Given the description of an element on the screen output the (x, y) to click on. 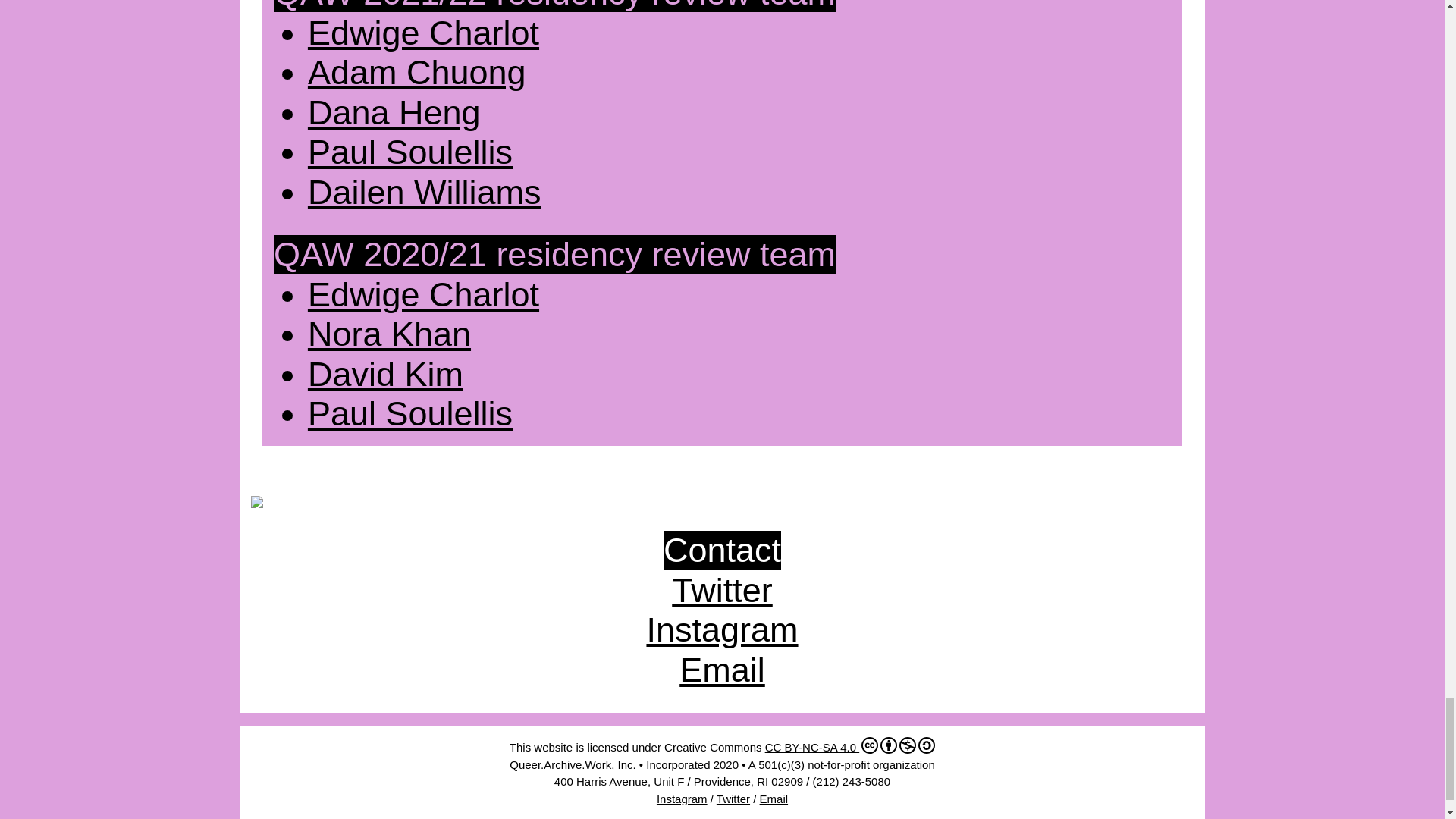
Email (722, 669)
David Kim (385, 373)
Paul Soulellis (409, 413)
Edwige Charlot (422, 32)
Nora Khan (388, 333)
Dailen Williams (424, 191)
Twitter (732, 798)
Paul Soulellis (409, 151)
CC BY-NC-SA 4.0 (850, 747)
Instagram (681, 798)
Dana Heng (393, 112)
Twitter (722, 589)
Queer.Archive.Work, Inc. (571, 764)
Instagram (721, 629)
Adam Chuong (416, 72)
